Given the description of an element on the screen output the (x, y) to click on. 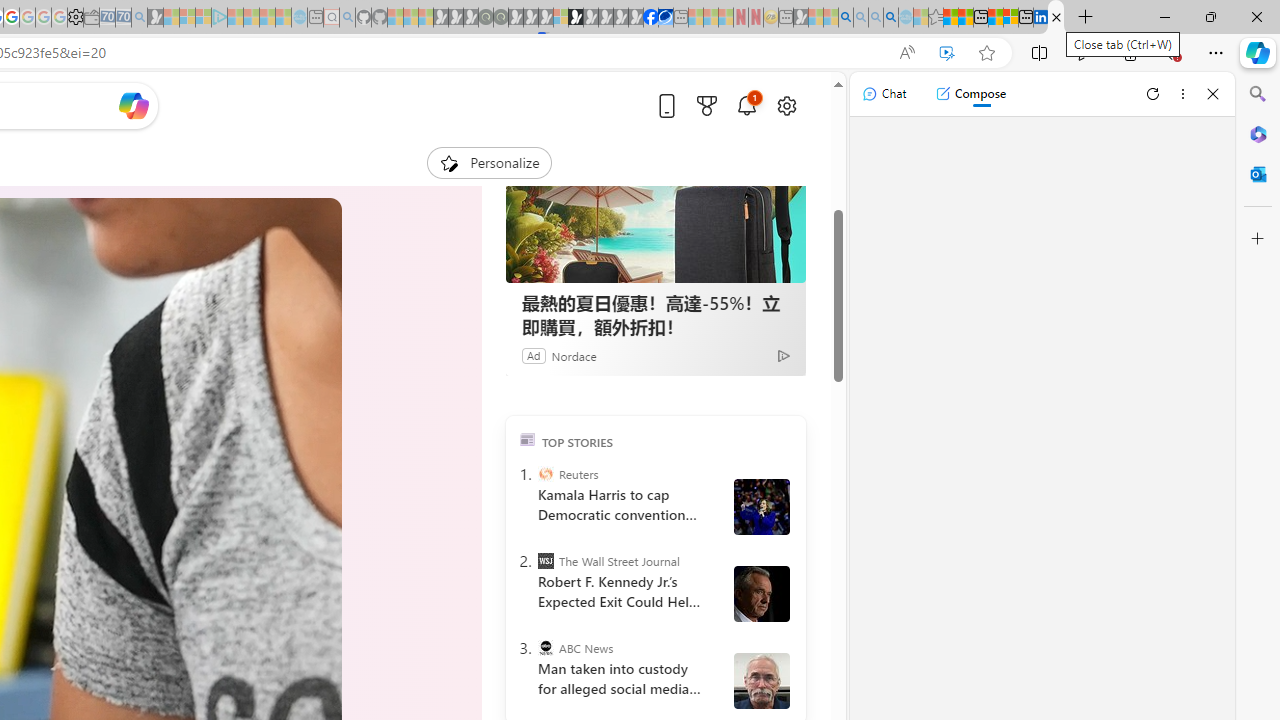
AQI & Health | AirNow.gov (666, 17)
Nordace | Facebook (650, 17)
